Given the description of an element on the screen output the (x, y) to click on. 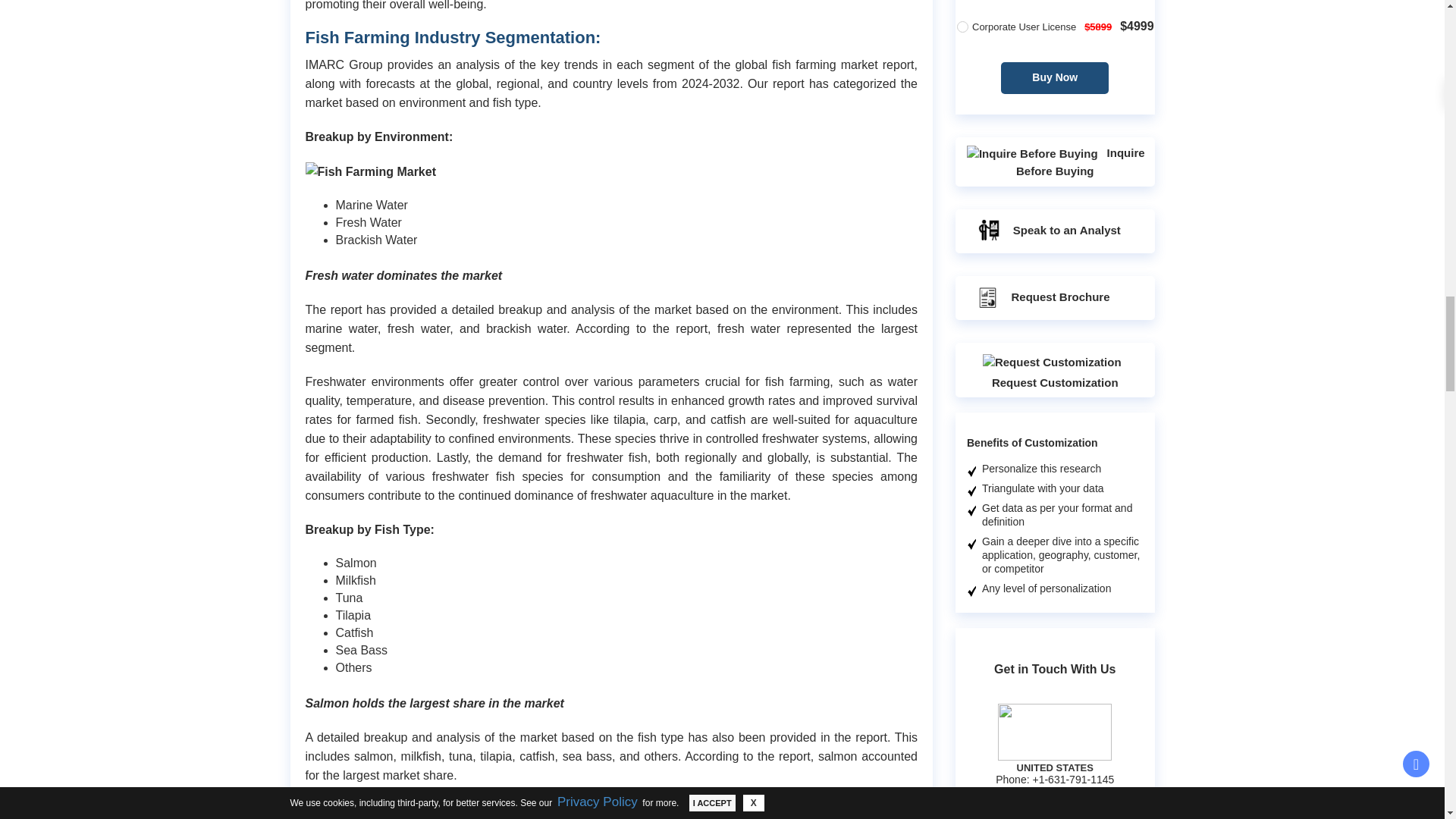
Know more (1081, 275)
Know more (1081, 549)
Know more (1081, 814)
Know more (1081, 8)
